Given the description of an element on the screen output the (x, y) to click on. 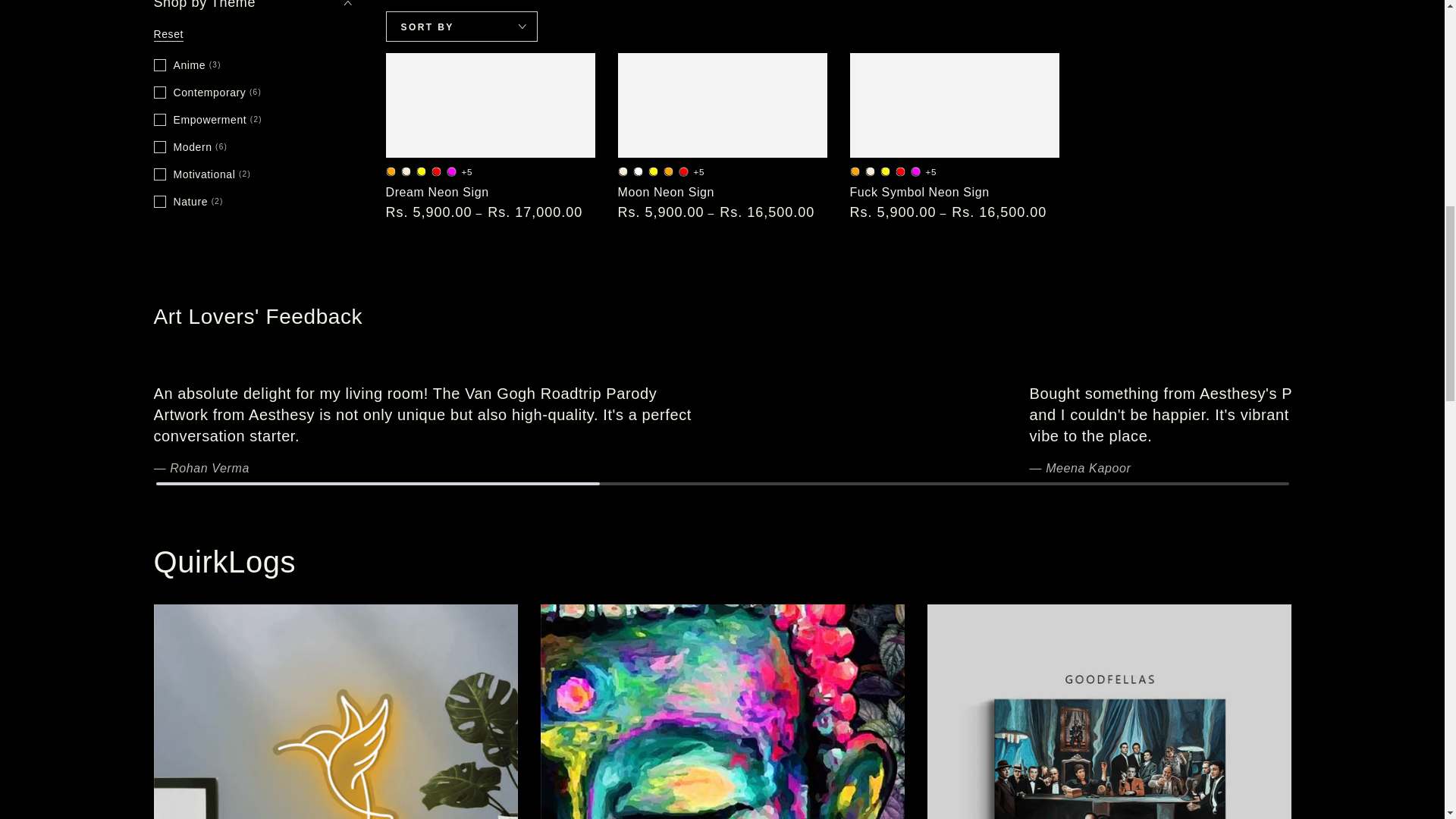
Contemporary (207, 72)
Anime (186, 45)
Motivational (201, 154)
Nature (187, 182)
Modern (189, 127)
